Given the description of an element on the screen output the (x, y) to click on. 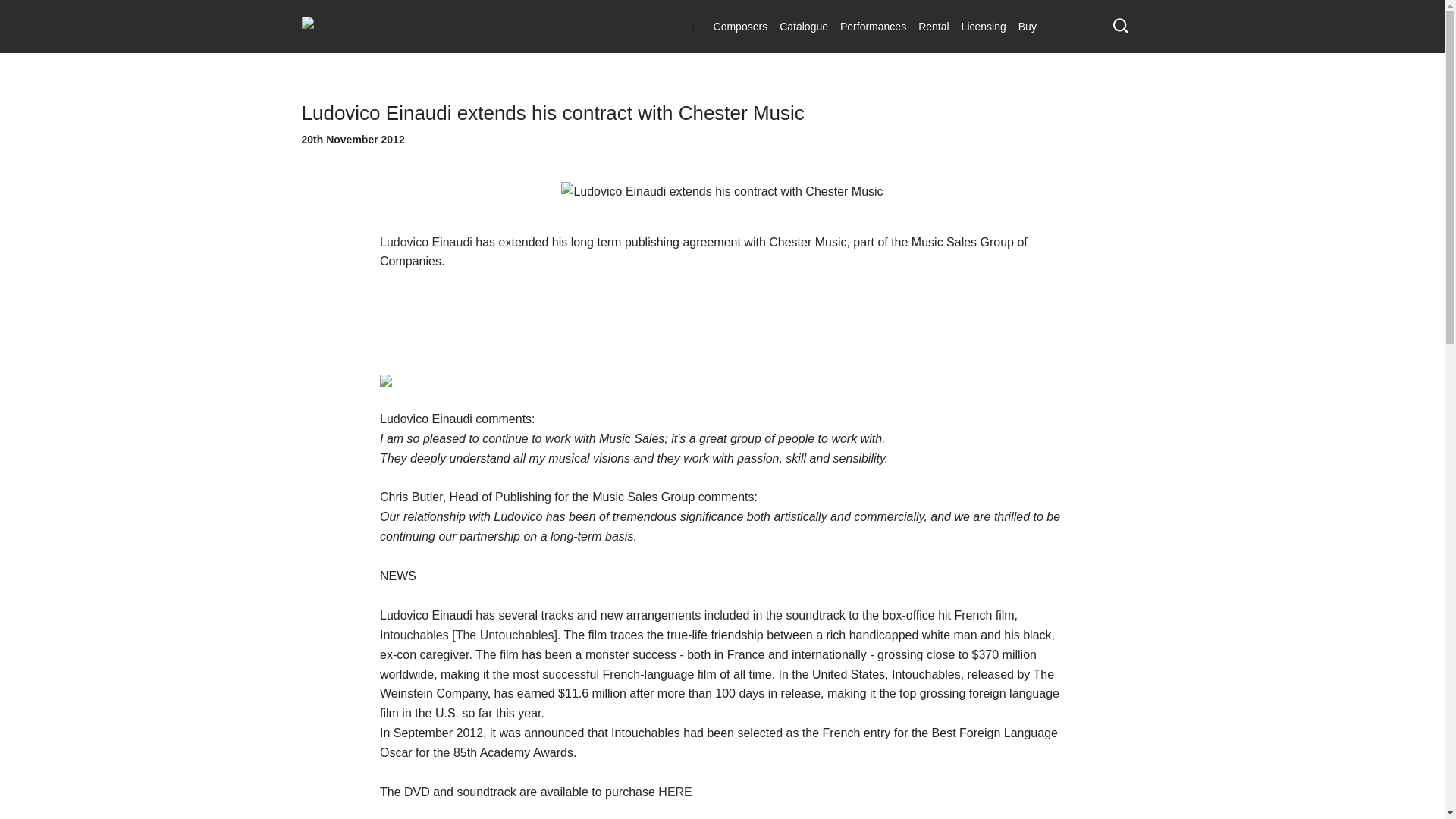
Performances (873, 26)
Buy (1026, 26)
search-1 (1120, 25)
Licensing (983, 26)
Composers (740, 26)
search-1 (1120, 24)
HERE (674, 792)
Ludovico Einaudi (425, 242)
Rental (933, 26)
Catalogue (803, 26)
